Given the description of an element on the screen output the (x, y) to click on. 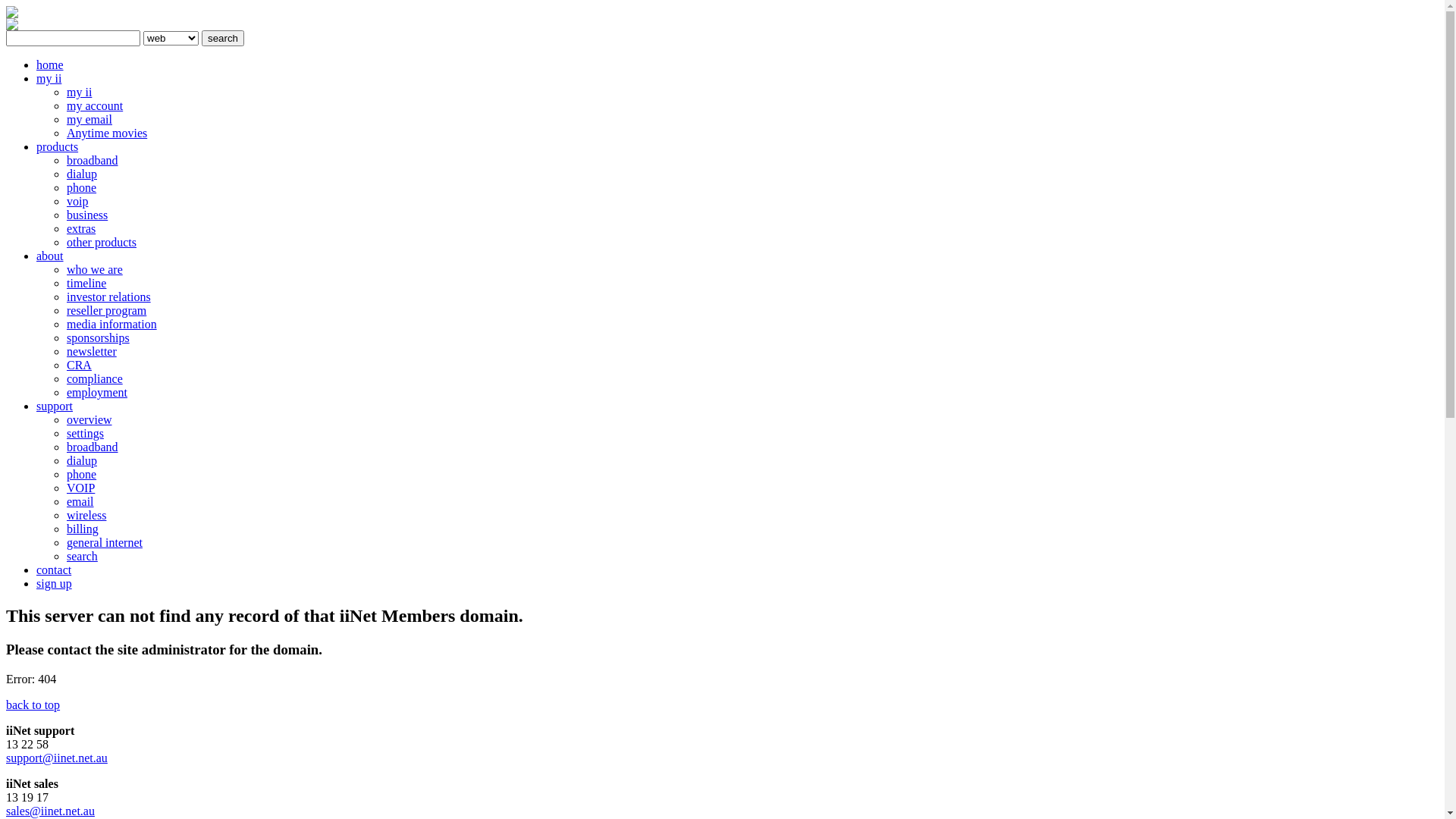
search Element type: text (81, 555)
billing Element type: text (82, 528)
dialup Element type: text (81, 460)
sign up Element type: text (54, 583)
investor relations Element type: text (108, 296)
phone Element type: text (81, 473)
dialup Element type: text (81, 173)
broadband Element type: text (92, 159)
newsletter Element type: text (91, 351)
my account Element type: text (94, 105)
search Element type: text (222, 38)
overview Element type: text (89, 419)
employment Element type: text (96, 391)
other products Element type: text (101, 241)
phone Element type: text (81, 187)
VOIP Element type: text (80, 487)
business Element type: text (86, 214)
support Element type: text (54, 405)
settings Element type: text (84, 432)
home Element type: text (49, 64)
reseller program Element type: text (106, 310)
my email Element type: text (89, 118)
contact Element type: text (53, 569)
email Element type: text (80, 501)
extras Element type: text (80, 228)
general internet Element type: text (104, 542)
back to top Element type: text (32, 704)
compliance Element type: text (94, 378)
support@iinet.net.au Element type: text (56, 757)
wireless Element type: text (86, 514)
sales@iinet.net.au Element type: text (50, 810)
about Element type: text (49, 255)
who we are Element type: text (94, 269)
timeline Element type: text (86, 282)
media information Element type: text (111, 323)
my ii Element type: text (78, 91)
products Element type: text (57, 146)
CRA Element type: text (78, 364)
my ii Element type: text (48, 78)
voip Element type: text (76, 200)
broadband Element type: text (92, 446)
sponsorships Element type: text (97, 337)
Anytime movies Element type: text (106, 132)
